Given the description of an element on the screen output the (x, y) to click on. 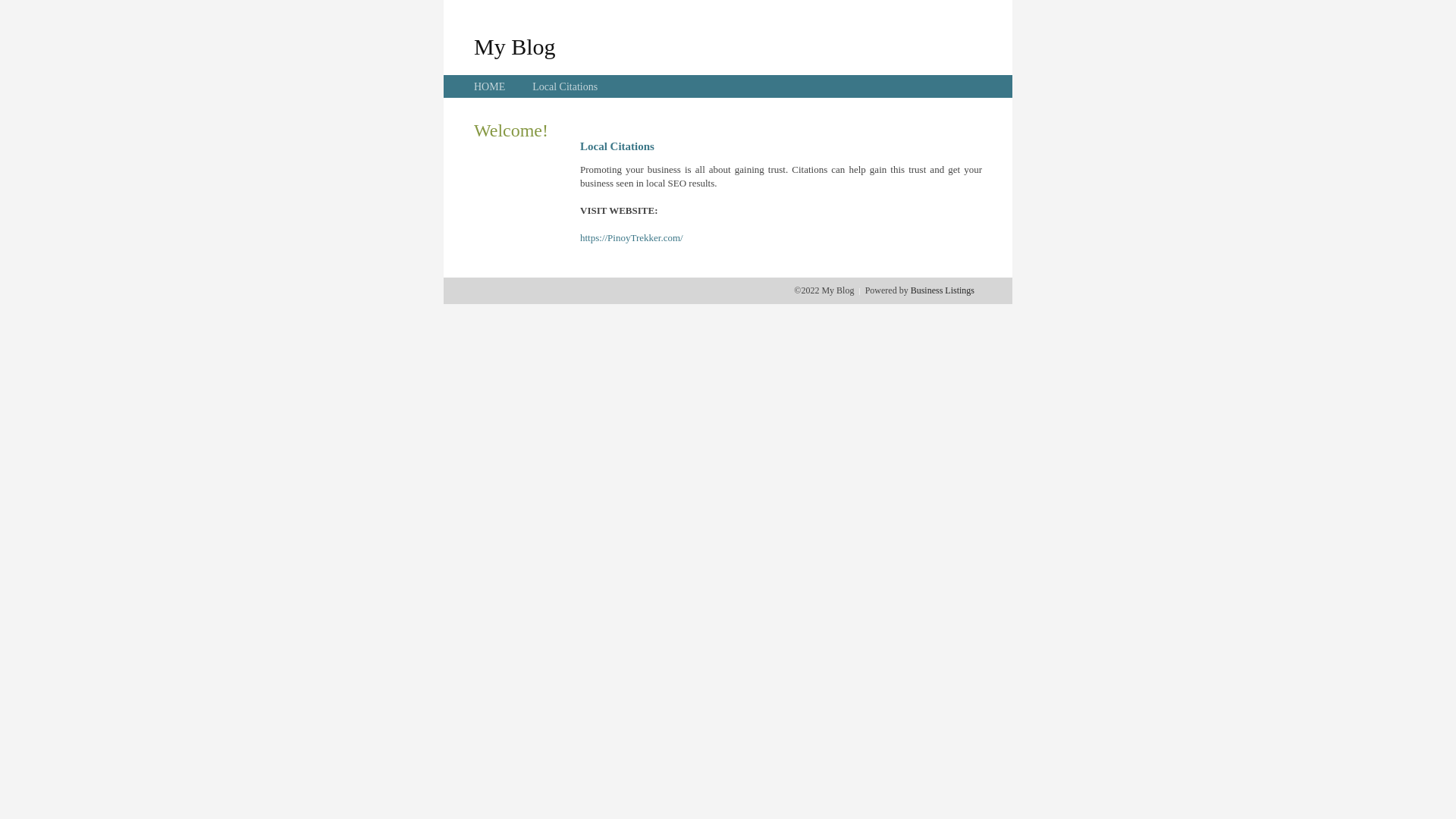
HOME Element type: text (489, 86)
Business Listings Element type: text (942, 290)
Local Citations Element type: text (564, 86)
https://PinoyTrekker.com/ Element type: text (631, 237)
My Blog Element type: text (514, 46)
